Given the description of an element on the screen output the (x, y) to click on. 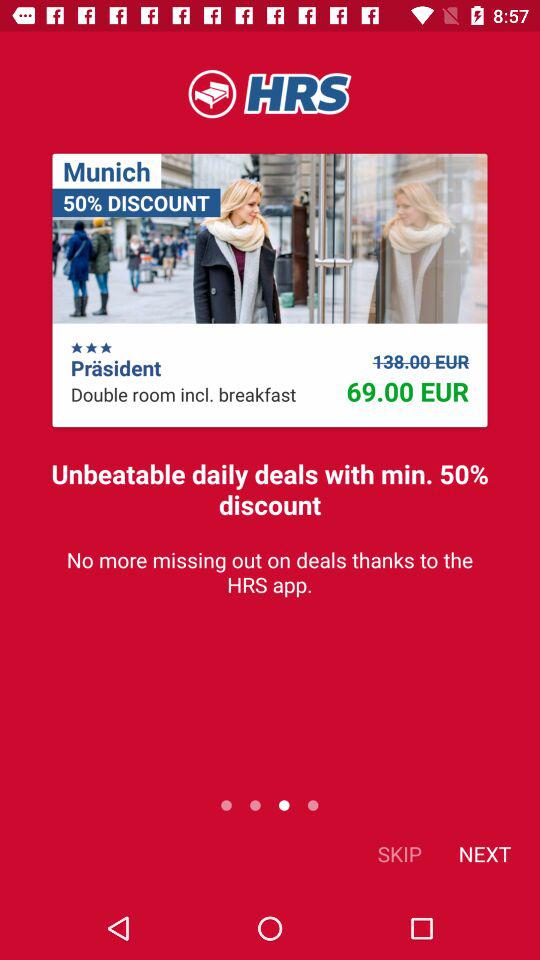
open item next to the next item (399, 853)
